Given the description of an element on the screen output the (x, y) to click on. 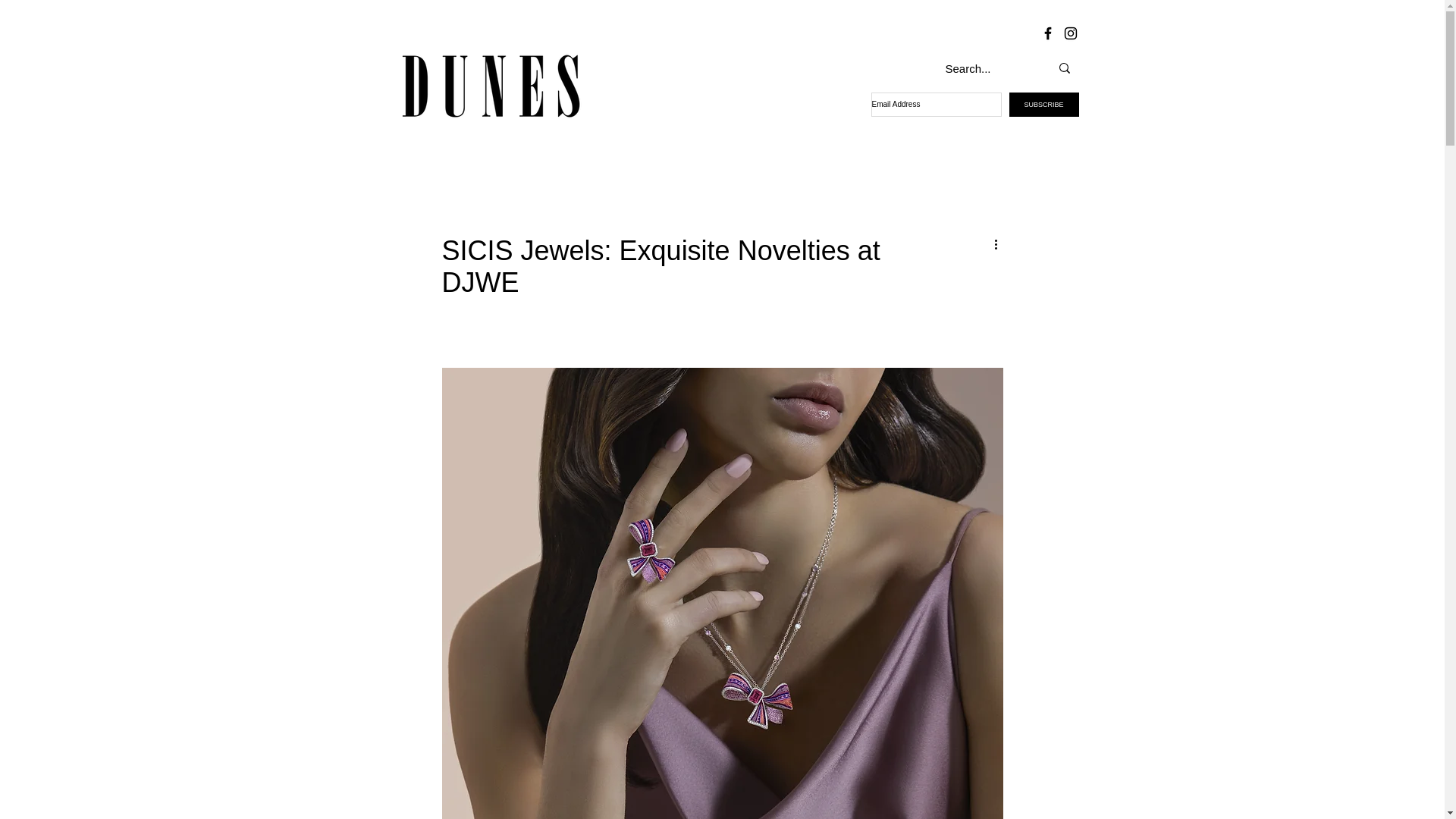
DUNES MAGAZINE (492, 85)
SUBSCRIBE (1043, 104)
